Given the description of an element on the screen output the (x, y) to click on. 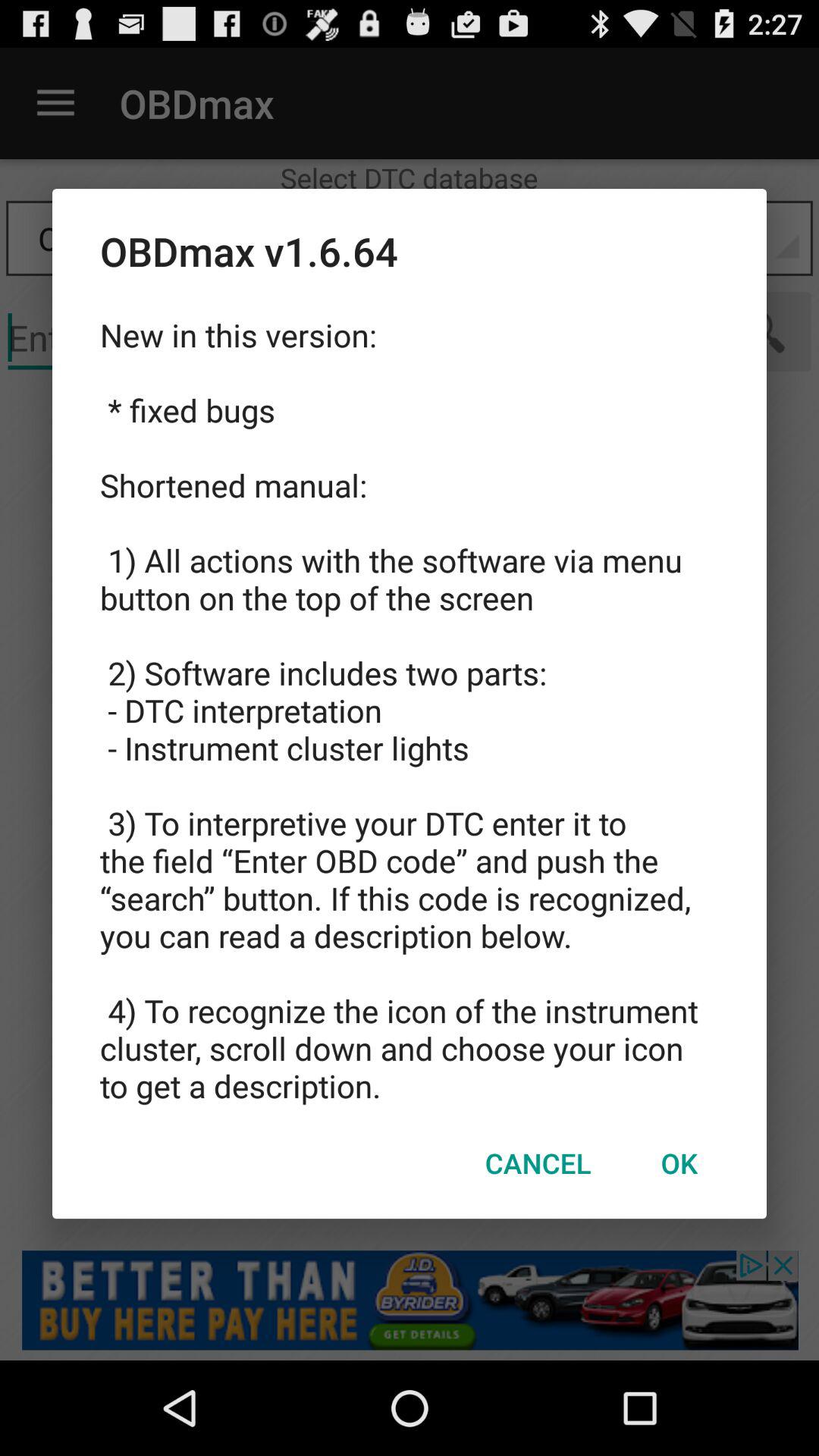
tap the icon next to ok item (538, 1162)
